Given the description of an element on the screen output the (x, y) to click on. 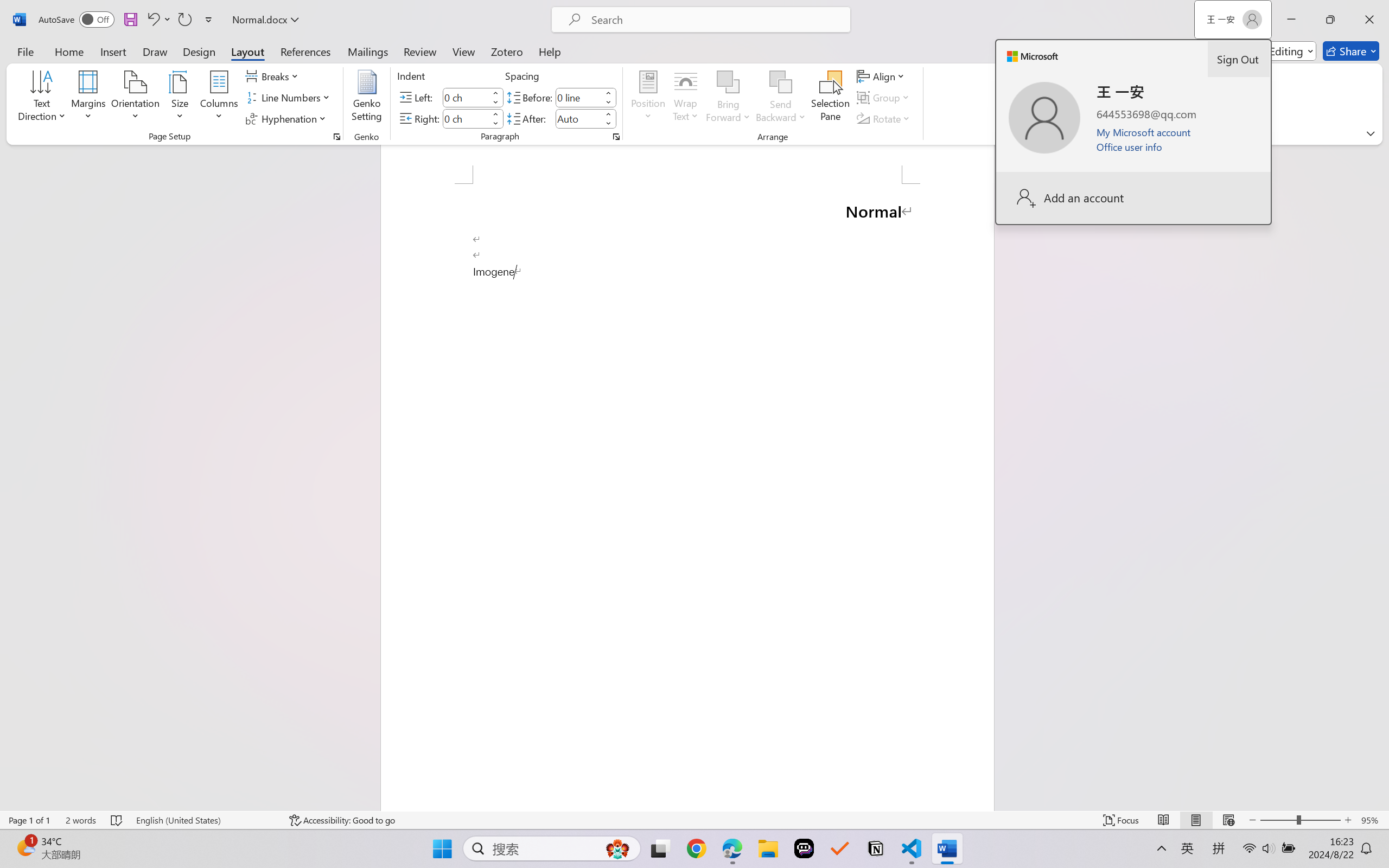
Spacing Before (578, 96)
Line Numbers (289, 97)
Breaks (273, 75)
Microsoft search (715, 19)
Rotate (884, 118)
Zoom 95% (1372, 819)
Genko Setting... (367, 97)
Repeat Paragraph Formatting (184, 19)
Margins (88, 97)
Page Number Page 1 of 1 (29, 819)
